Given the description of an element on the screen output the (x, y) to click on. 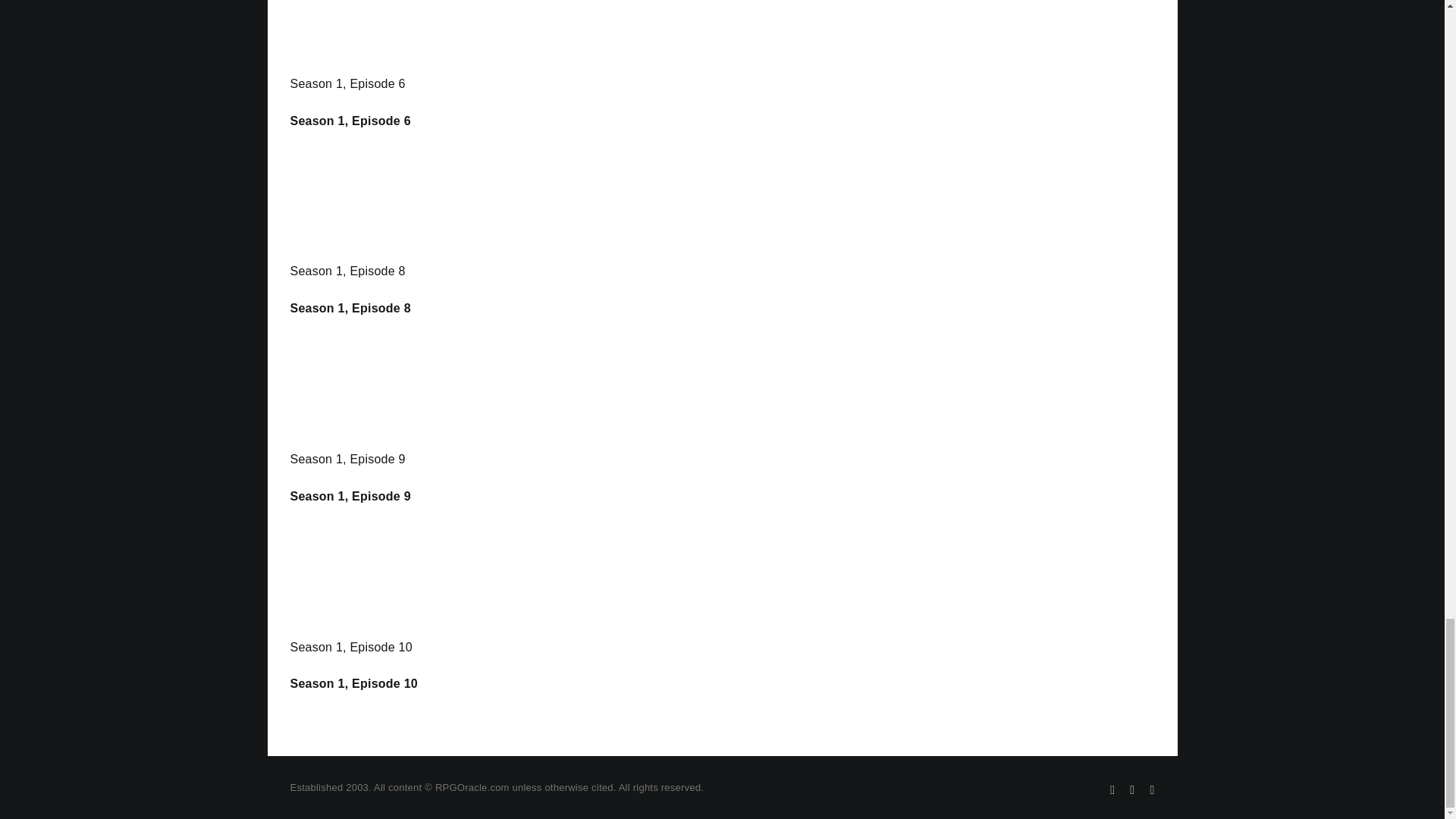
Season 1, Episode 8 (349, 308)
Season 1, Episode 8 (346, 270)
Season 1, Episode 9 (346, 459)
Season 1, Episode 10 (352, 683)
Season 1, Episode 6 (346, 83)
Season 1, Episode 9 (349, 495)
Season 1, Episode 6 (349, 120)
Season 1, Episode 10 (350, 646)
